Given the description of an element on the screen output the (x, y) to click on. 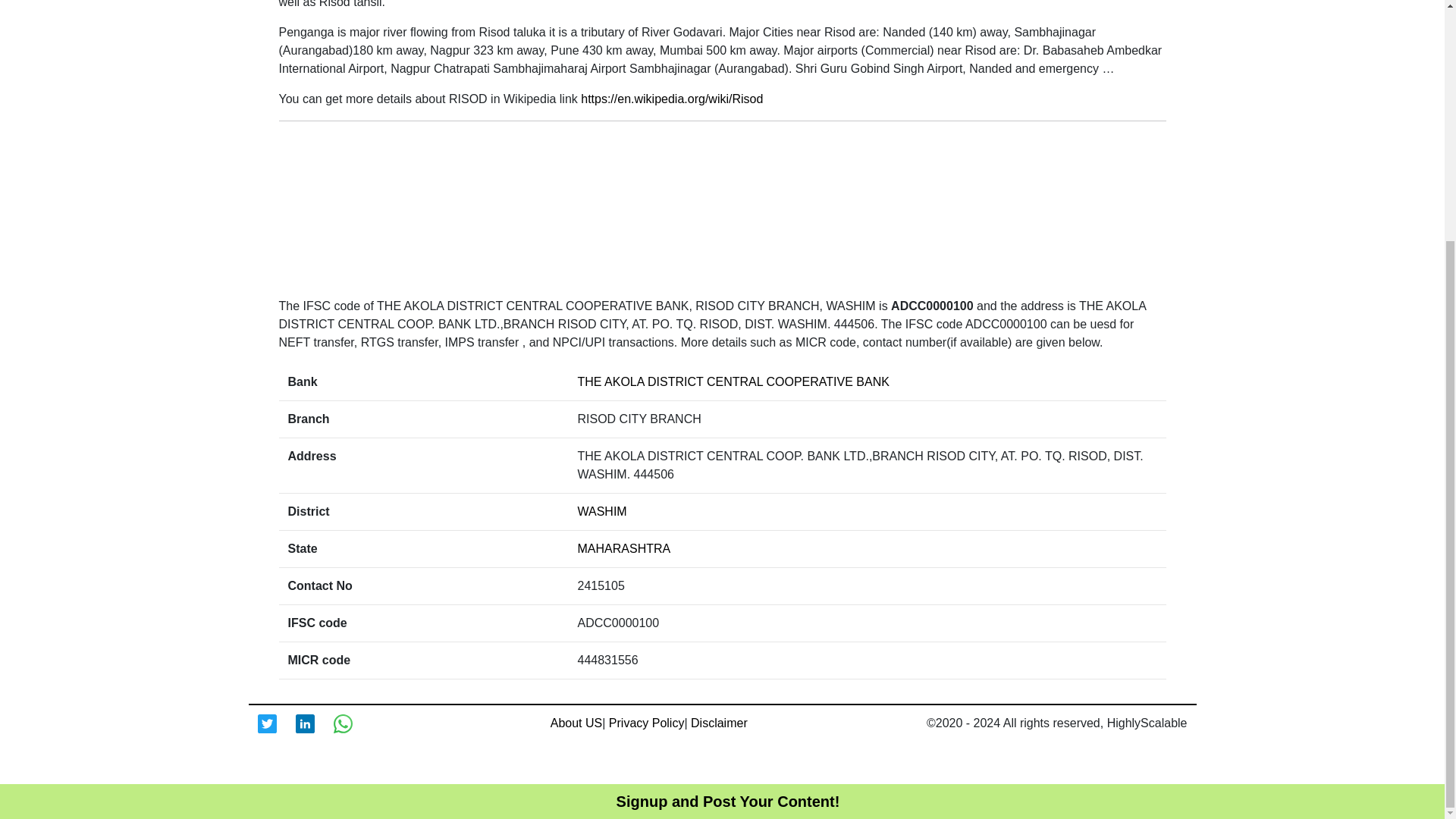
WASHIM (602, 511)
MAHARASHTRA (624, 548)
About US (576, 722)
Disclaimer (719, 722)
Sticky footer container (727, 468)
THE AKOLA DISTRICT CENTRAL COOPERATIVE BANK (733, 381)
Privacy Policy (646, 722)
Signup and Post Your Content! (727, 468)
